Given the description of an element on the screen output the (x, y) to click on. 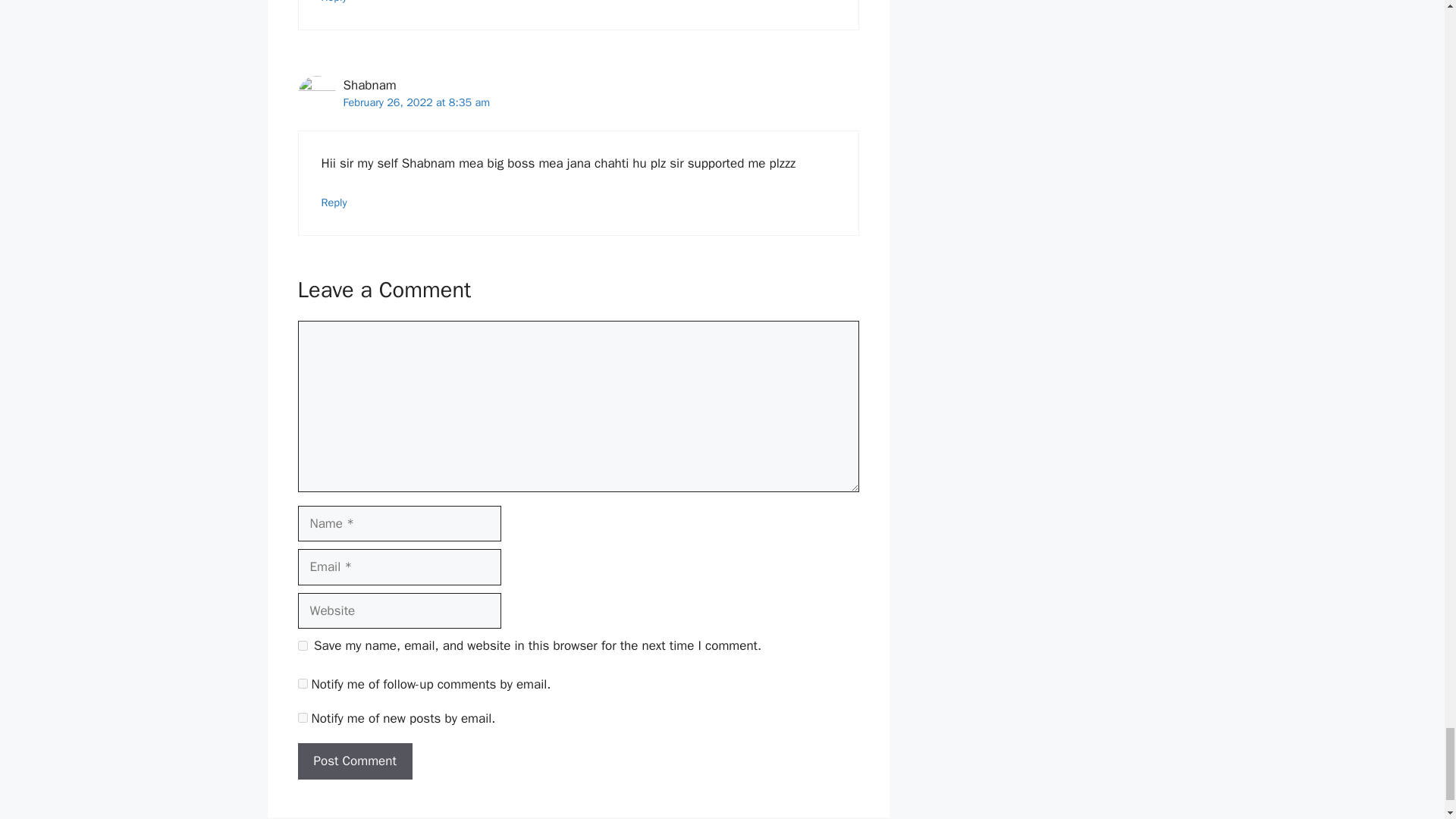
yes (302, 645)
subscribe (302, 683)
subscribe (302, 717)
Post Comment (354, 760)
